Given the description of an element on the screen output the (x, y) to click on. 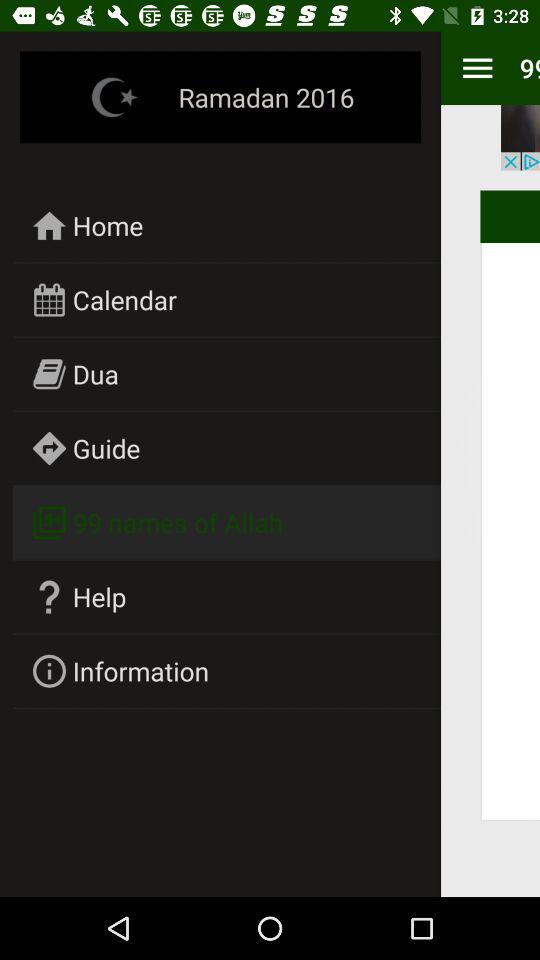
tap icon above information (99, 596)
